Given the description of an element on the screen output the (x, y) to click on. 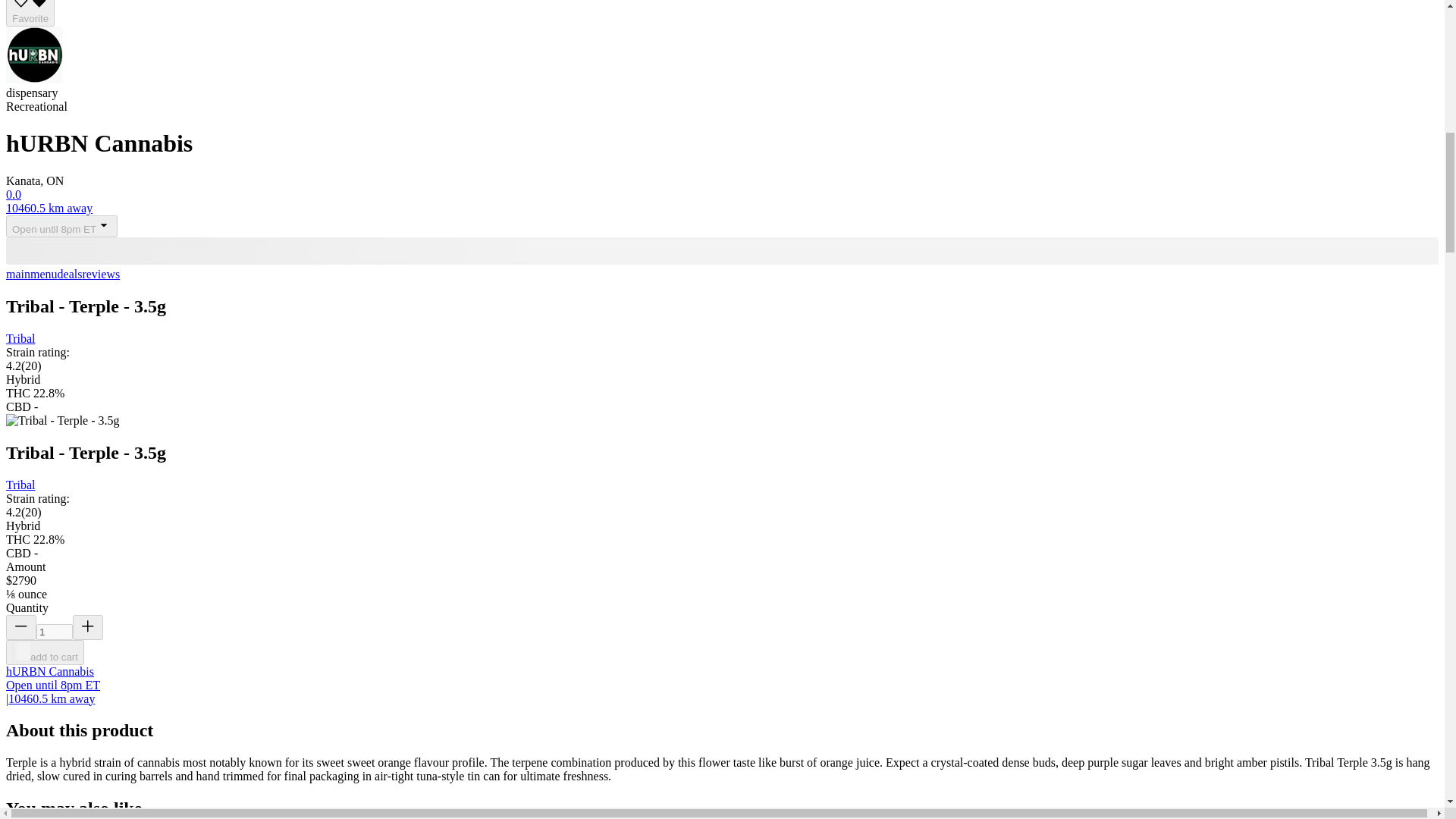
1 (54, 631)
Loading... (721, 250)
Follow hURBN Cannabis (30, 13)
Loading... (20, 650)
